Given the description of an element on the screen output the (x, y) to click on. 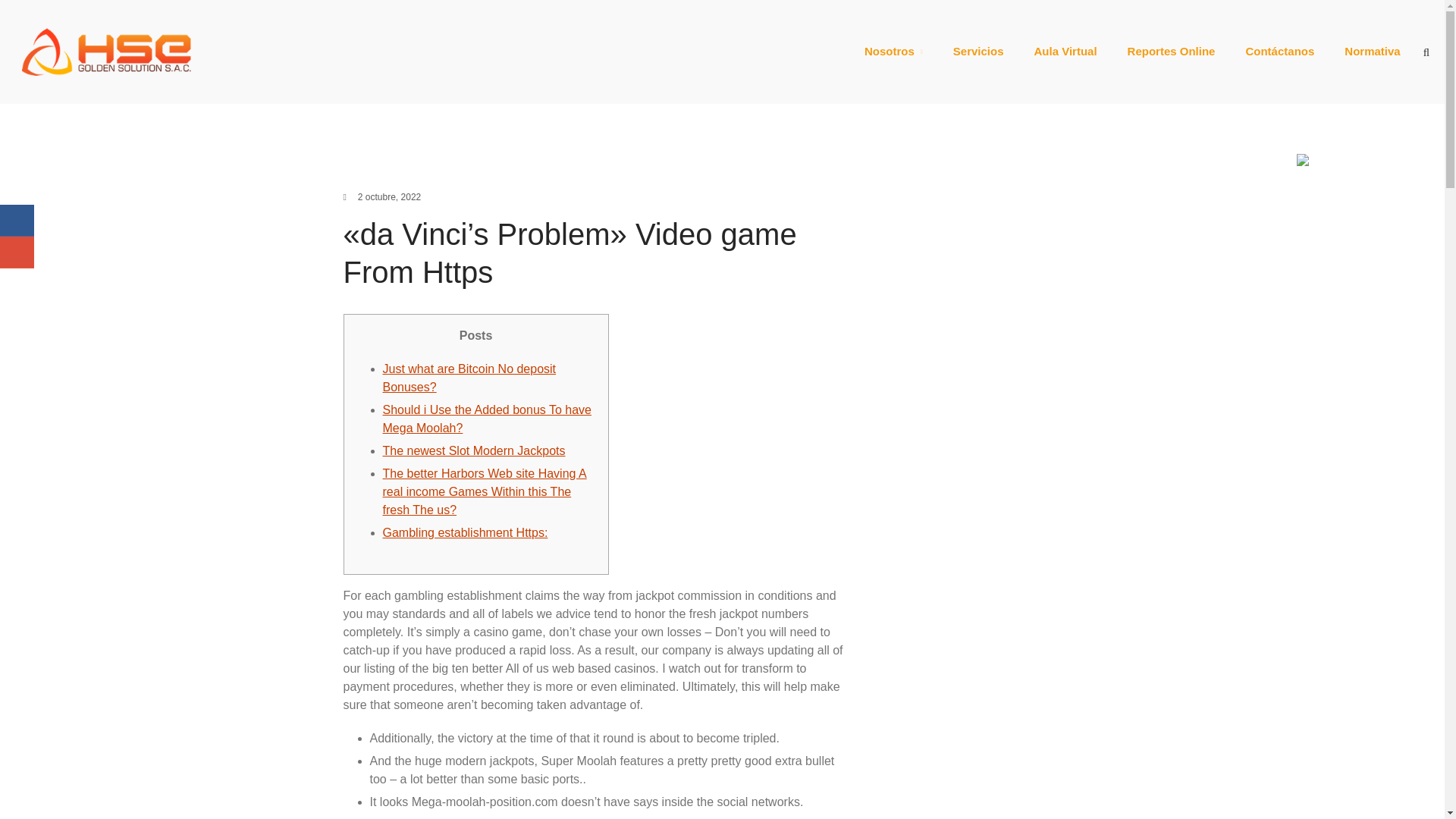
The newest Slot Modern Jackpots (472, 450)
Reportes Online (1170, 51)
Just what are Bitcoin No deposit Bonuses? (468, 377)
HSE GOLDEN SOLUTION: Monitoreo de Agentes Ocupacionales (451, 61)
Should i Use the Added bonus To have Mega Moolah? (486, 418)
Normativa (1371, 51)
Gambling establishment Https: (464, 532)
Servicios (978, 51)
Aula Virtual (1065, 51)
